Given the description of an element on the screen output the (x, y) to click on. 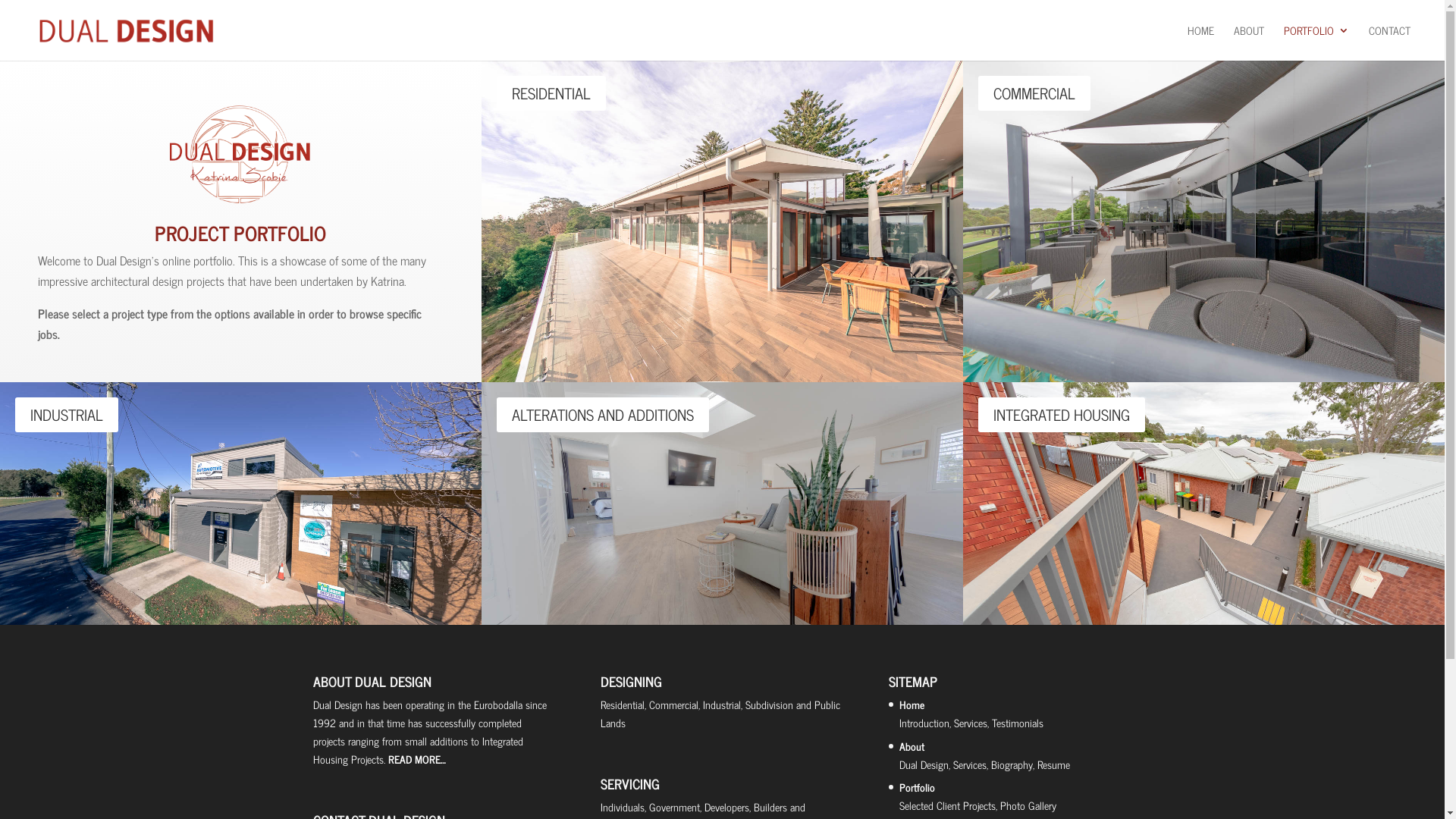
CONTACT Element type: text (1389, 42)
HOME Element type: text (1200, 42)
PORTFOLIO Element type: text (1316, 42)
ABOUT Element type: text (1248, 42)
Home Element type: text (911, 703)
About Element type: text (911, 745)
Portfolio Element type: text (917, 786)
